Given the description of an element on the screen output the (x, y) to click on. 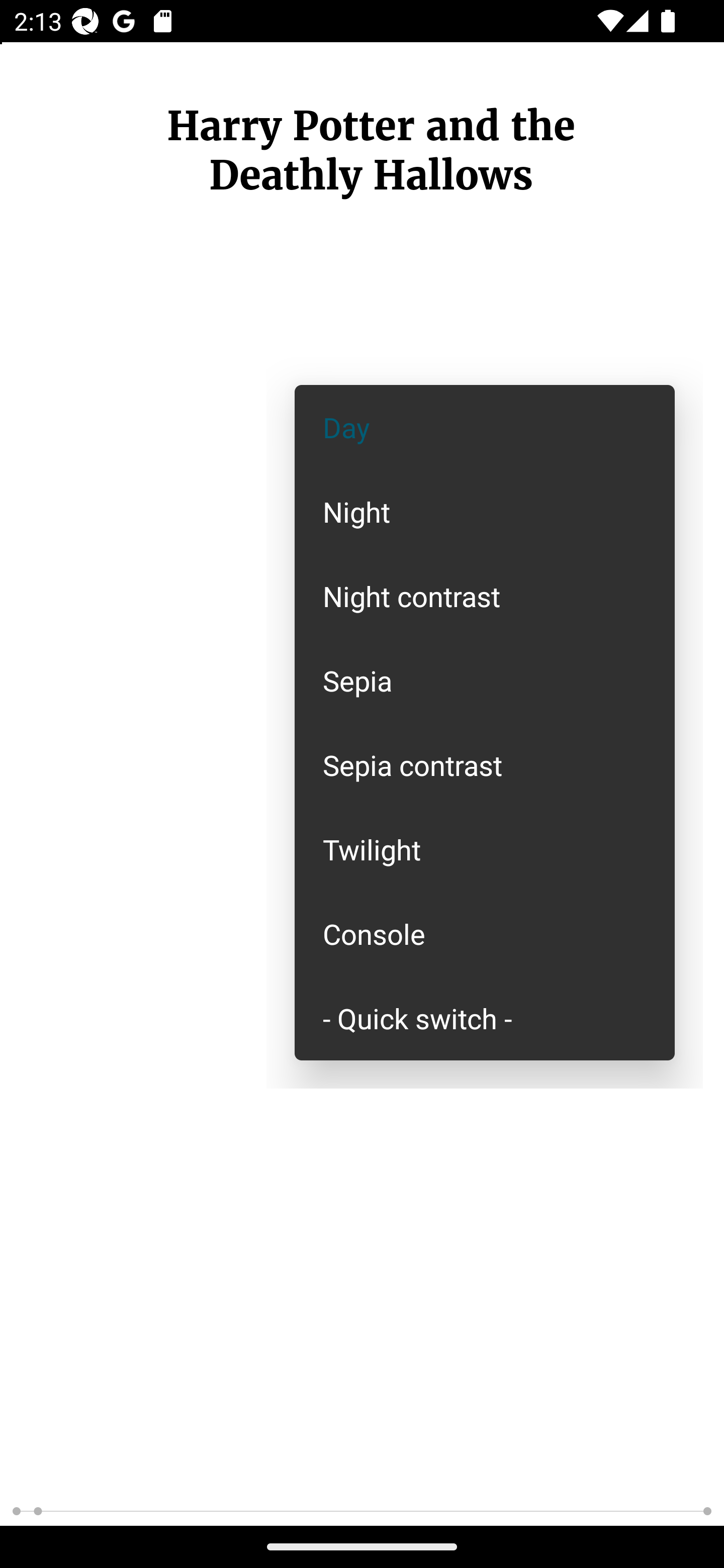
Day (484, 426)
Night (484, 510)
Night contrast (484, 595)
Sepia (484, 680)
Sepia contrast (484, 764)
Twilight (484, 849)
Console (484, 933)
- Quick switch - (484, 1017)
